Given the description of an element on the screen output the (x, y) to click on. 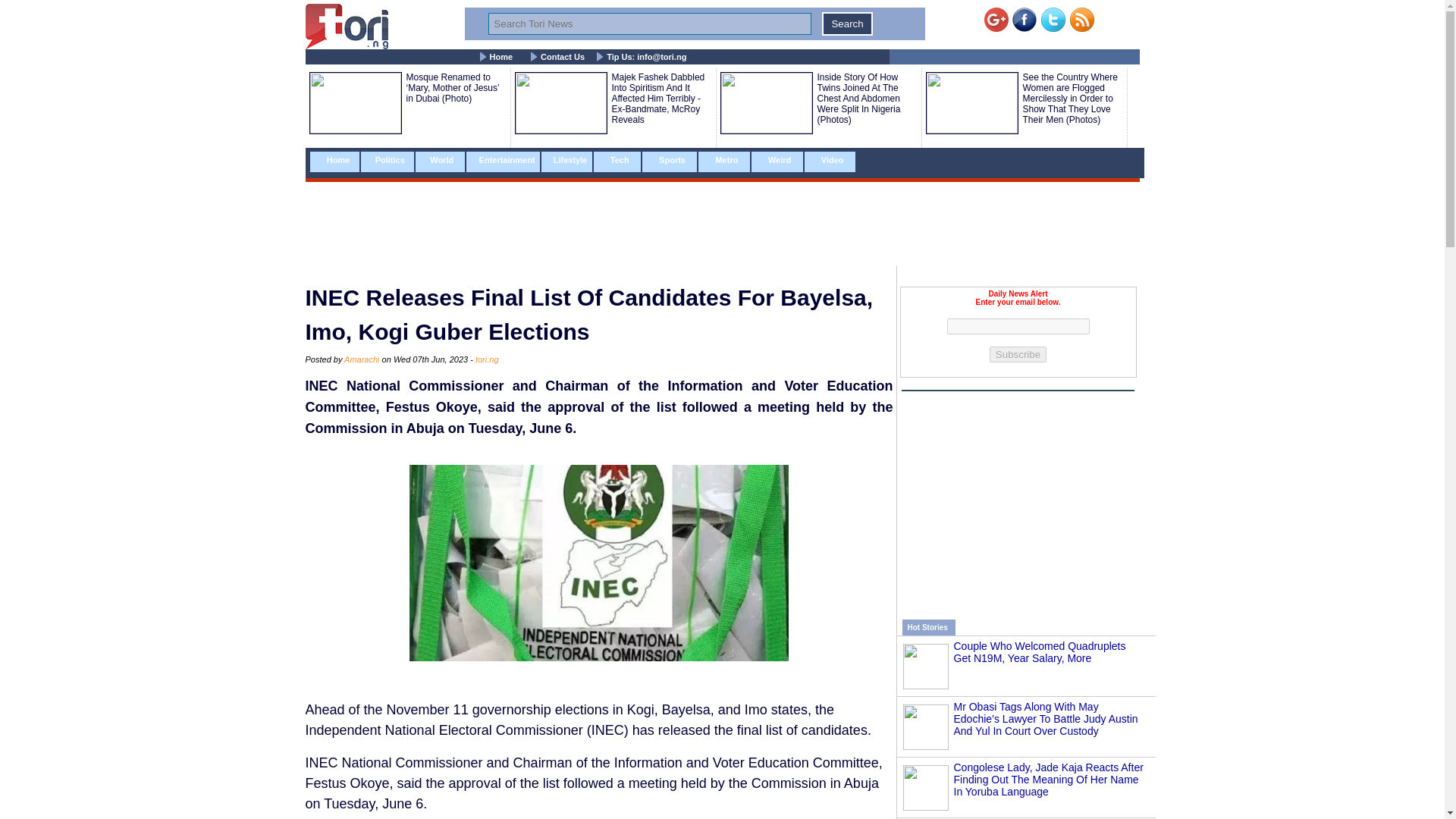
    Metro      (723, 161)
   Politics     (387, 161)
Contact Us (562, 56)
    Video      (830, 161)
Click To Search (847, 24)
    Tech      (617, 161)
Couple Who Welcomed Quadruplets Get N19M, Year Salary, More (1039, 651)
    Weird      (777, 161)
Home (501, 56)
    Home     (333, 161)
Search Tori News (648, 24)
  Lifestyle   (566, 161)
Search (847, 24)
Subscribe (1018, 354)
